Given the description of an element on the screen output the (x, y) to click on. 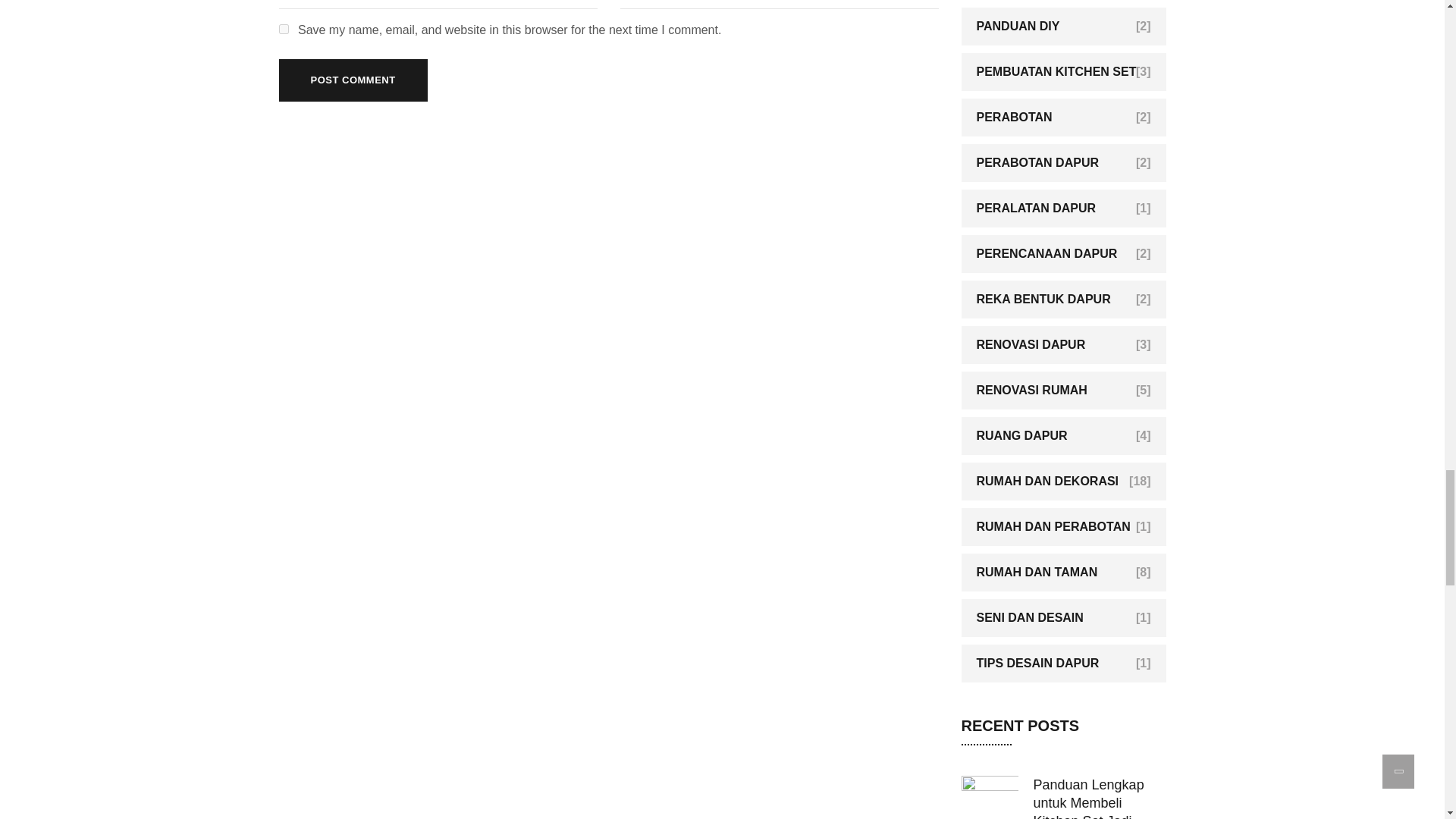
Post Comment (353, 80)
Post Comment (353, 80)
yes (283, 29)
